Given the description of an element on the screen output the (x, y) to click on. 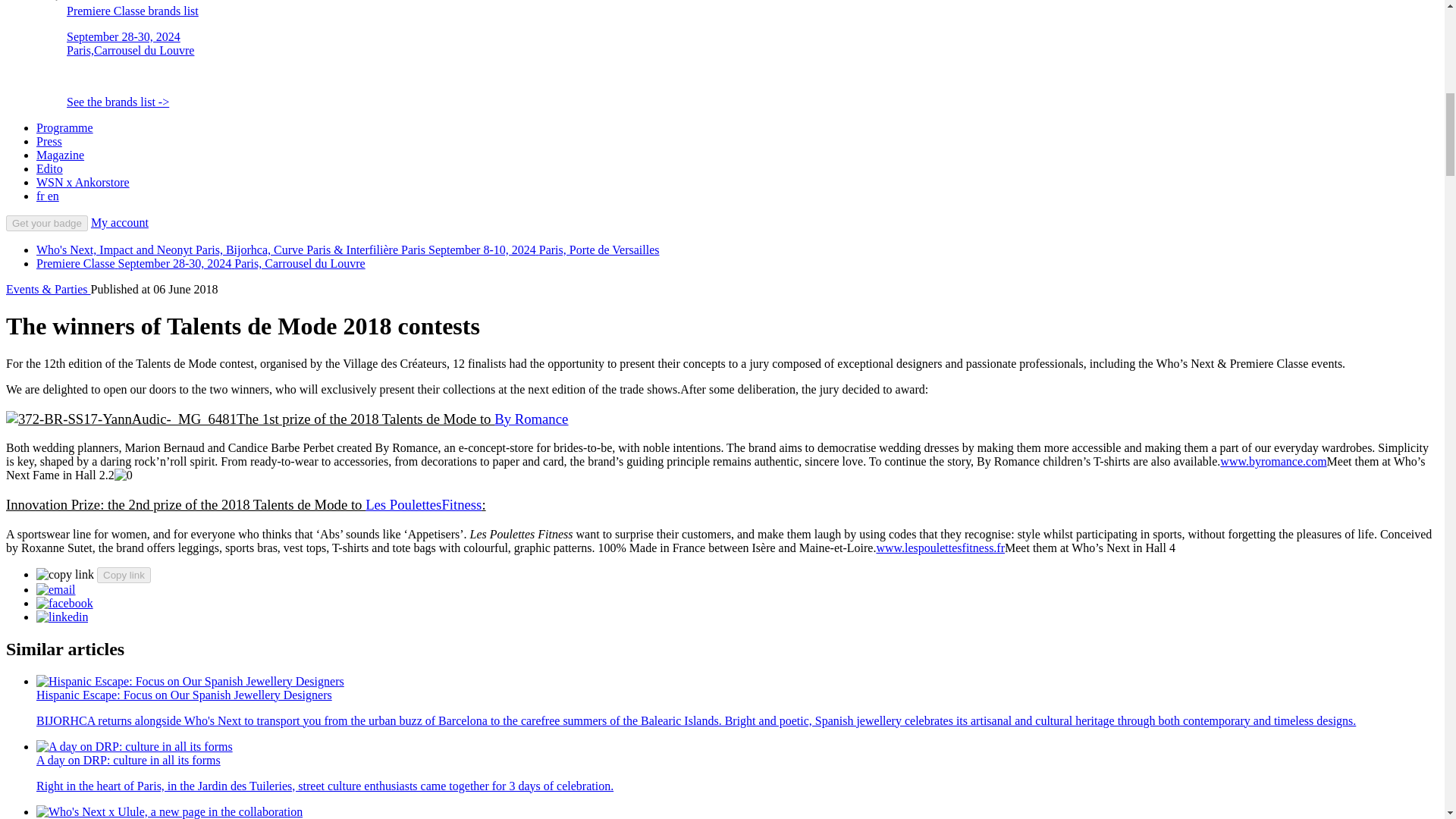
Programme (64, 127)
Les PoulettesFitness (423, 504)
Programme (64, 127)
Magazine (60, 154)
WSN x Ankorstore (82, 182)
WSN x Ankorstore (82, 182)
Edito (49, 168)
www.byromance.com (1273, 461)
My account (119, 222)
Edito (49, 168)
Press (49, 141)
Get your badge (46, 222)
Press (49, 141)
Premiere Classe (200, 263)
